Given the description of an element on the screen output the (x, y) to click on. 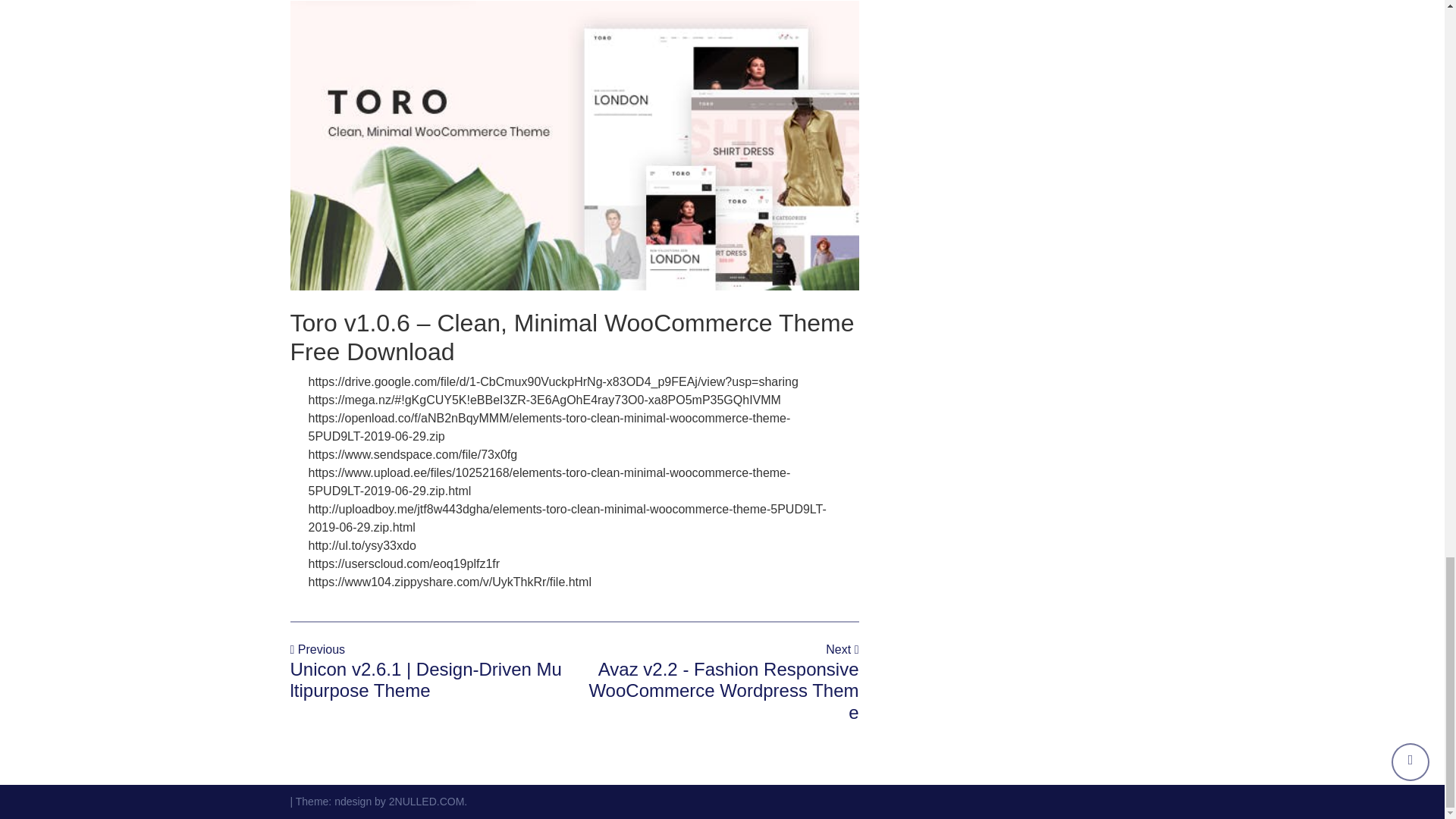
Next (842, 649)
Previous (317, 649)
Avaz v2.2 - Fashion Responsive WooCommerce Wordpress Theme (723, 691)
